Given the description of an element on the screen output the (x, y) to click on. 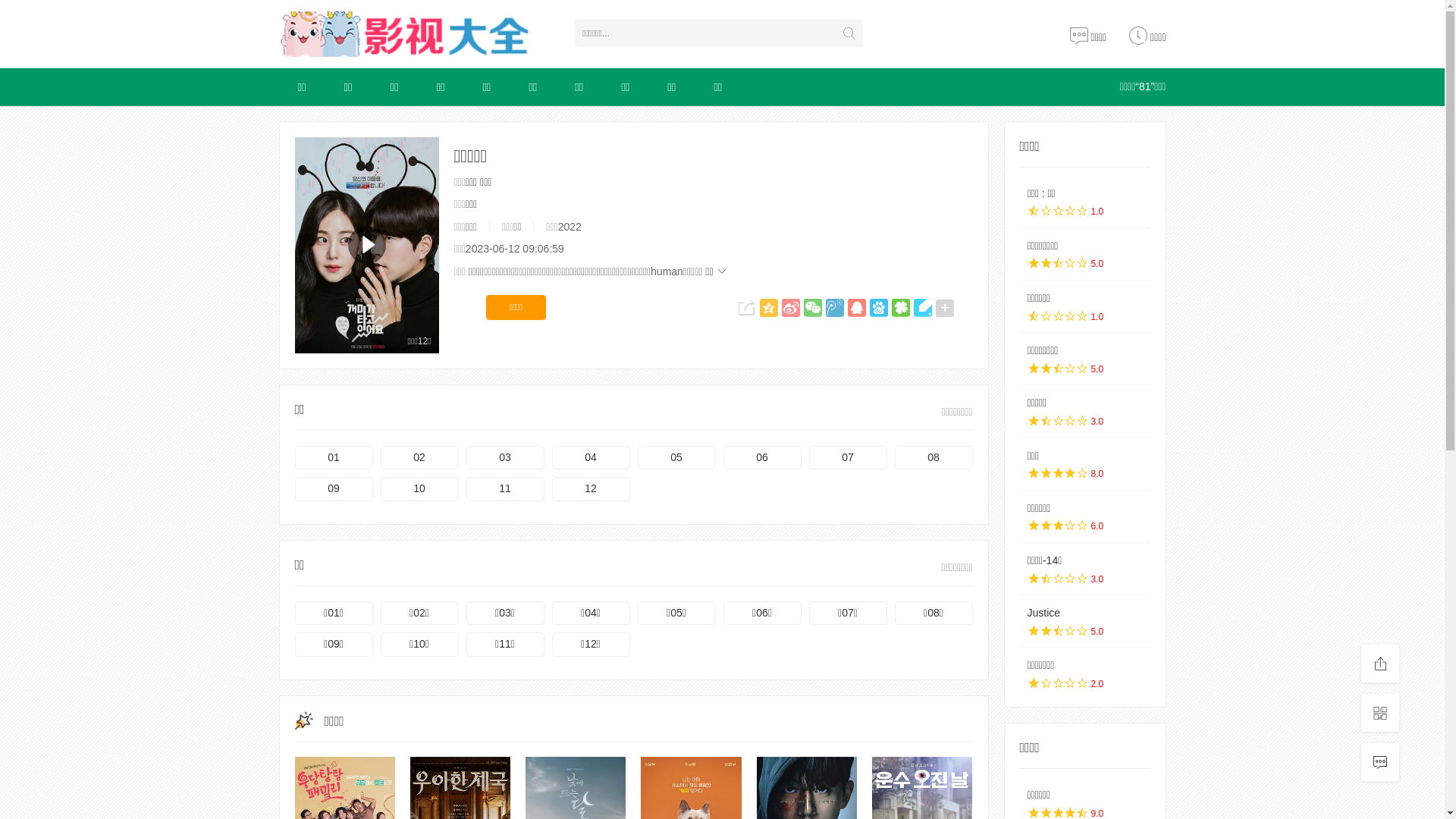
08 Element type: text (933, 457)
Justice Element type: text (1043, 612)
05 Element type: text (676, 457)
04 Element type: text (591, 457)
02 Element type: text (419, 457)
01 Element type: text (333, 457)
09 Element type: text (333, 488)
07 Element type: text (847, 457)
11 Element type: text (504, 488)
12 Element type: text (591, 488)
03 Element type: text (504, 457)
06 Element type: text (762, 457)
10 Element type: text (419, 488)
